Given the description of an element on the screen output the (x, y) to click on. 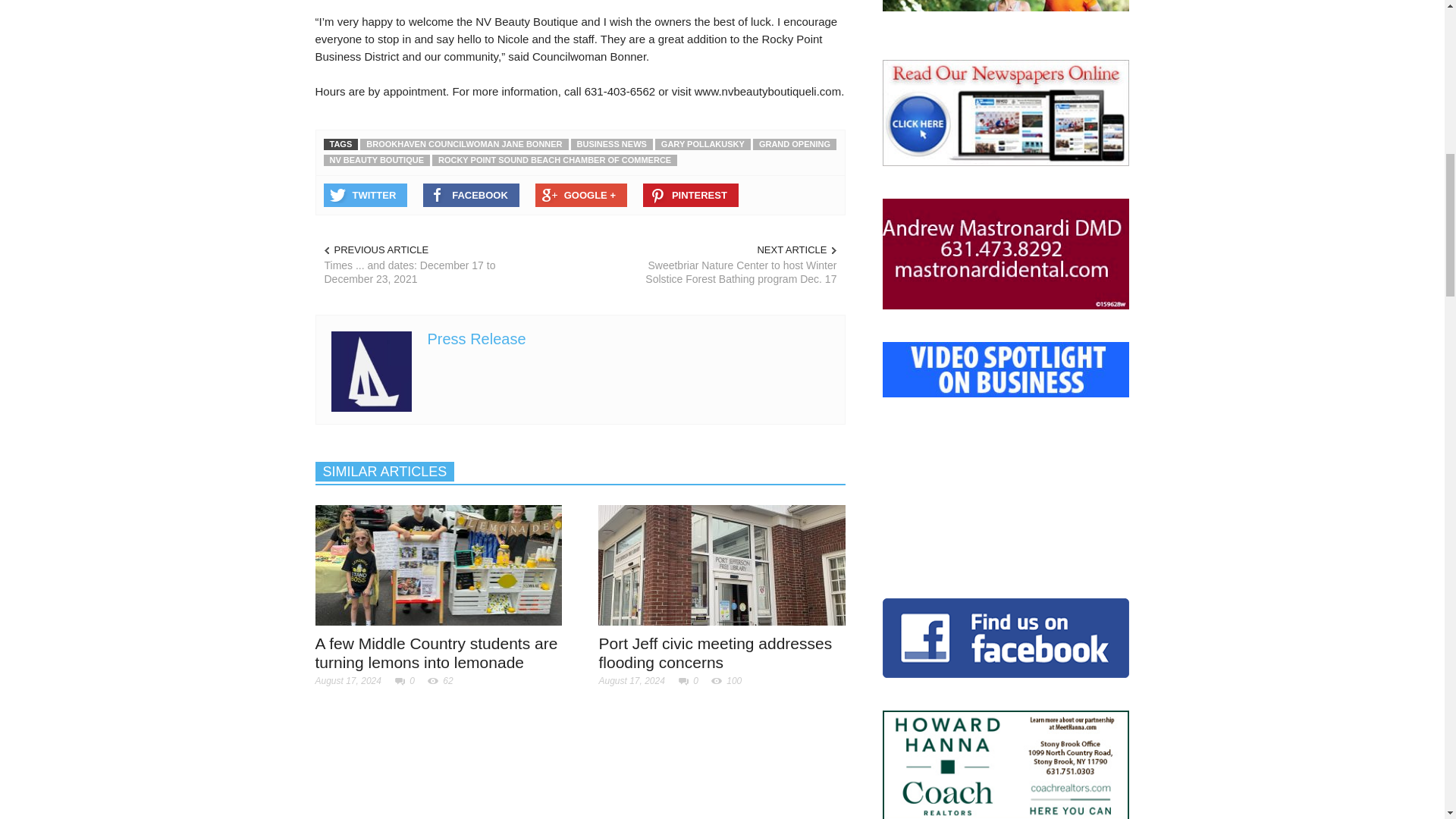
YouTube video player (1005, 471)
Port Jeff civic meeting addresses flooding concerns (721, 565)
Port Jeff civic meeting addresses flooding concerns (721, 563)
Dr. Andrew Mastronardi (1005, 254)
Port Jeff civic meeting addresses flooding concerns (714, 652)
